Given the description of an element on the screen output the (x, y) to click on. 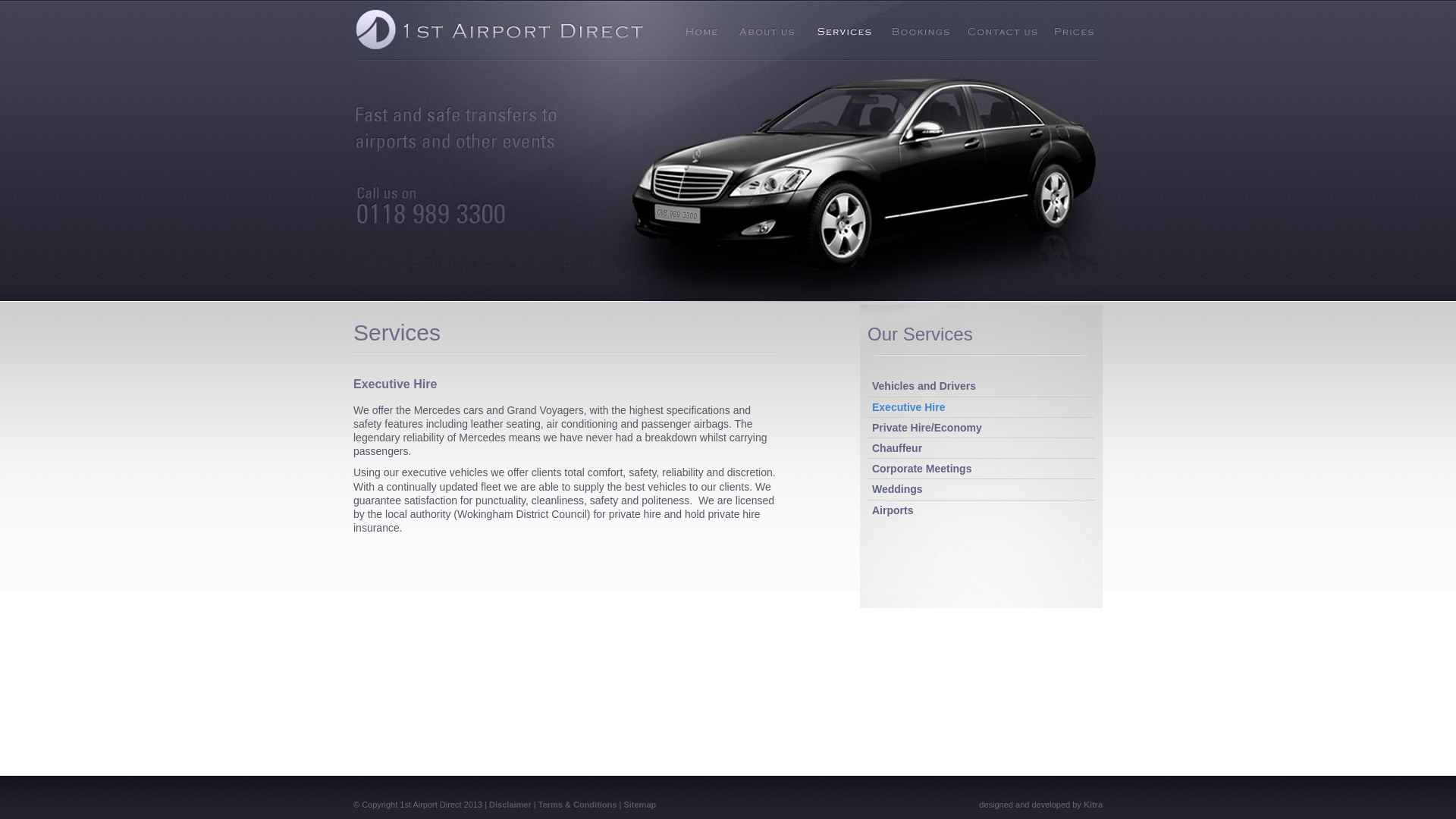
Kitra Element type: text (1092, 804)
Chauffeur Element type: text (897, 448)
Executive Hire Element type: text (908, 407)
Sitemap Element type: text (639, 804)
Terms & Conditions Element type: text (577, 804)
Airports Element type: text (892, 509)
Private Hire/Economy Element type: text (927, 427)
Corporate Meetings Element type: text (921, 468)
Vehicles and Drivers Element type: text (923, 385)
Disclaimer Element type: text (510, 804)
Weddings Element type: text (897, 489)
